Given the description of an element on the screen output the (x, y) to click on. 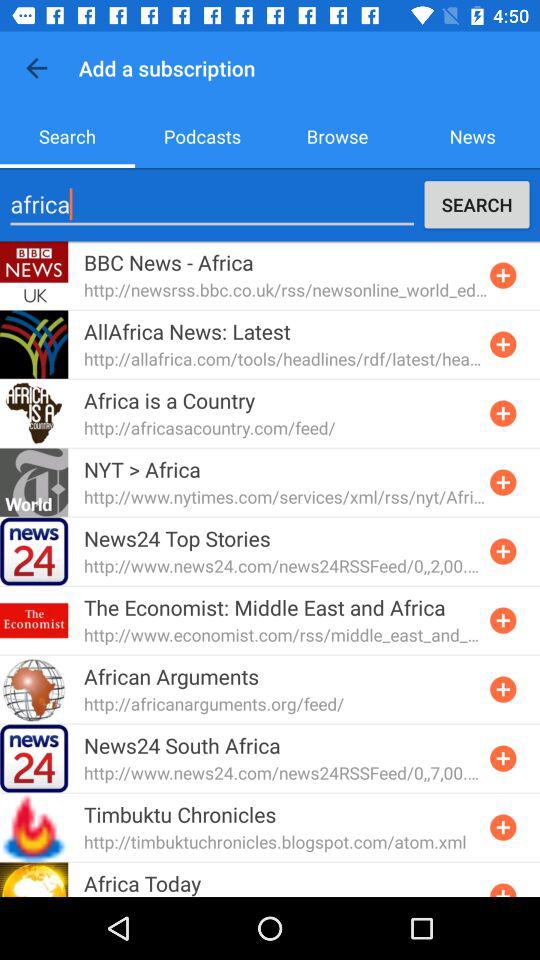
subscribe to african arguments (503, 689)
